Given the description of an element on the screen output the (x, y) to click on. 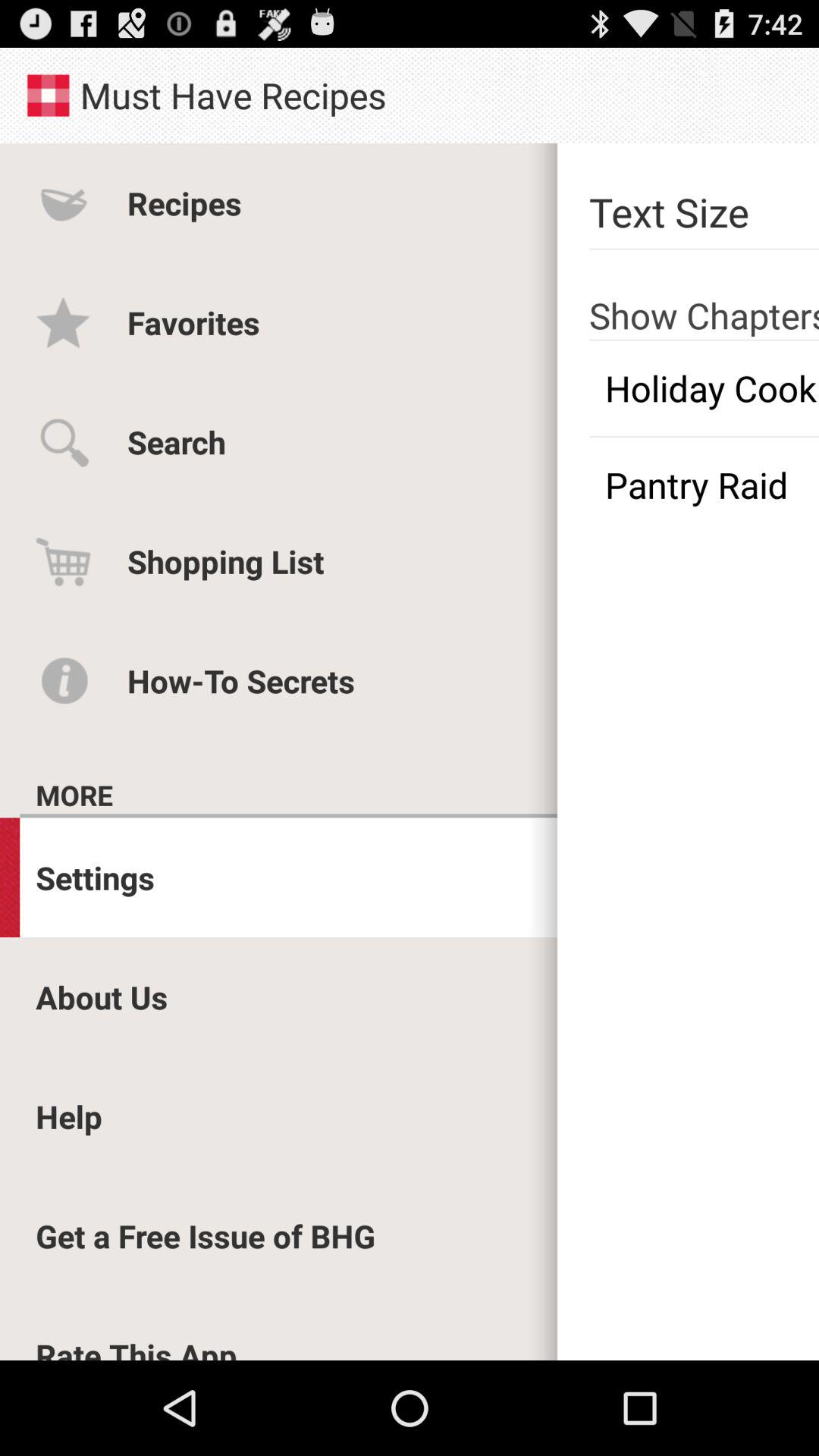
swipe to the shopping list item (225, 560)
